Given the description of an element on the screen output the (x, y) to click on. 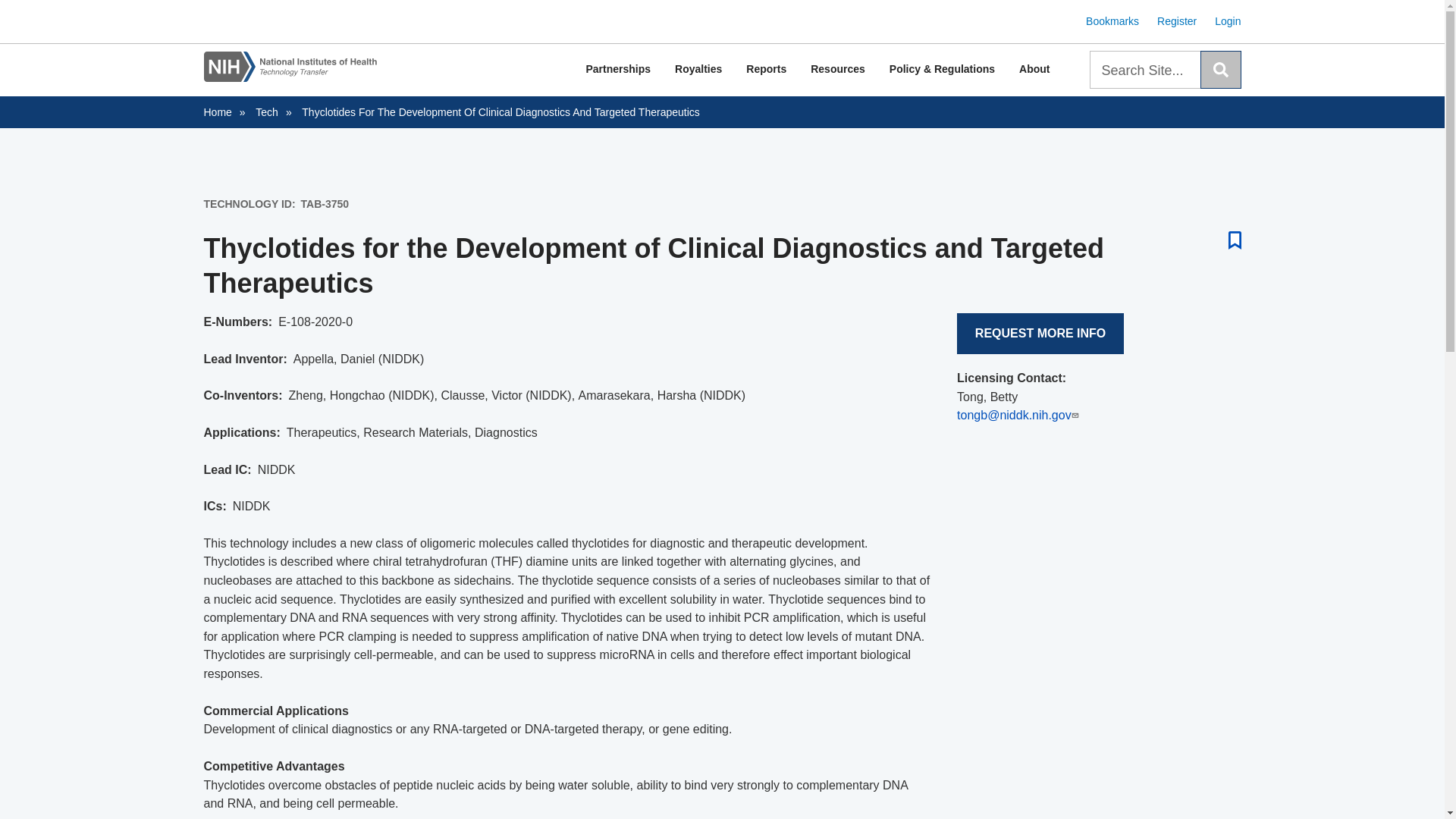
Login (1227, 21)
Reports (765, 69)
Royalties (697, 69)
Bookmarks (1112, 21)
Skip to main content (721, 1)
Register (1176, 21)
Submit the search query. (1219, 69)
Partnerships (617, 69)
